Given the description of an element on the screen output the (x, y) to click on. 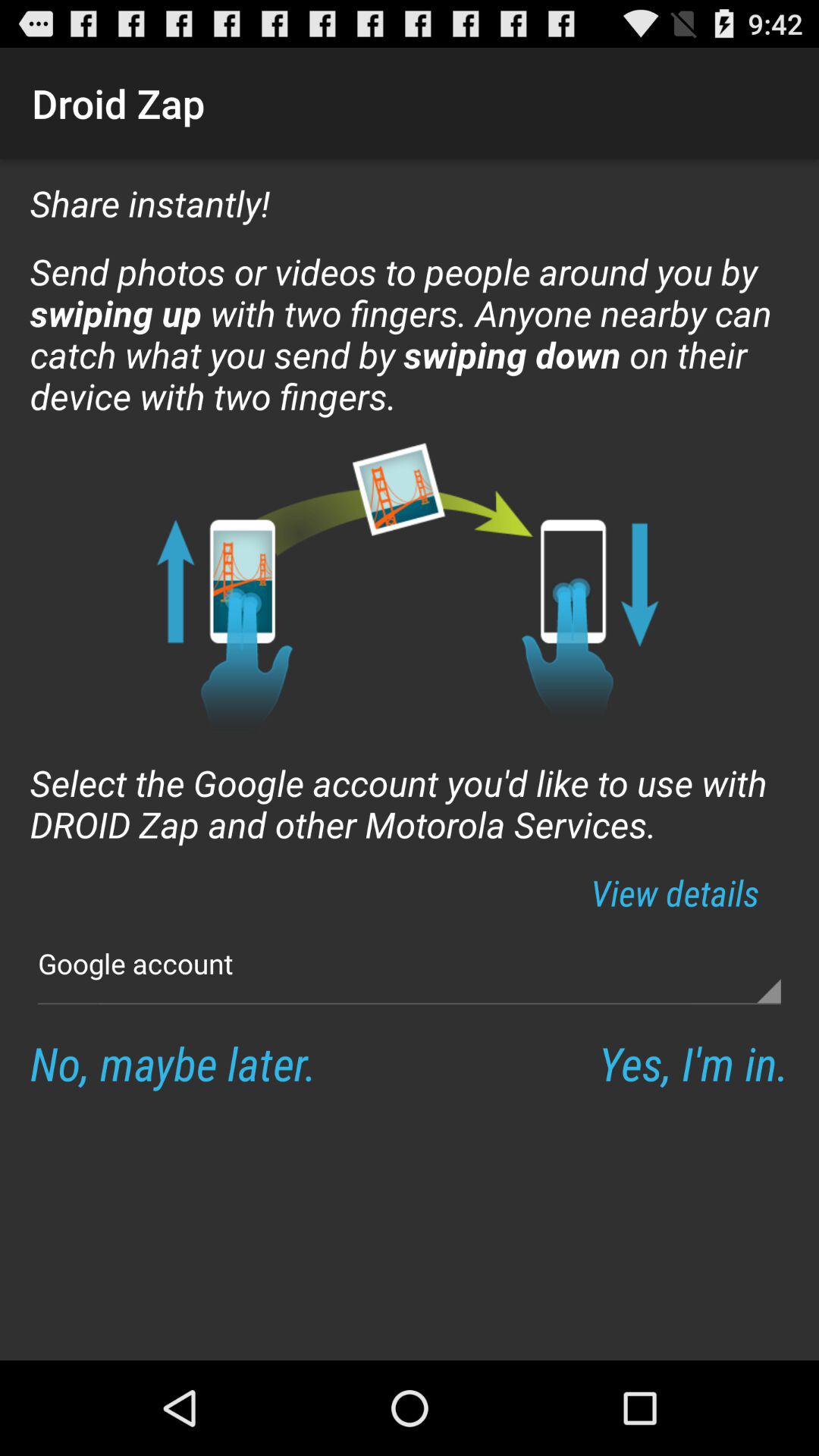
turn off app on the right (674, 892)
